Given the description of an element on the screen output the (x, y) to click on. 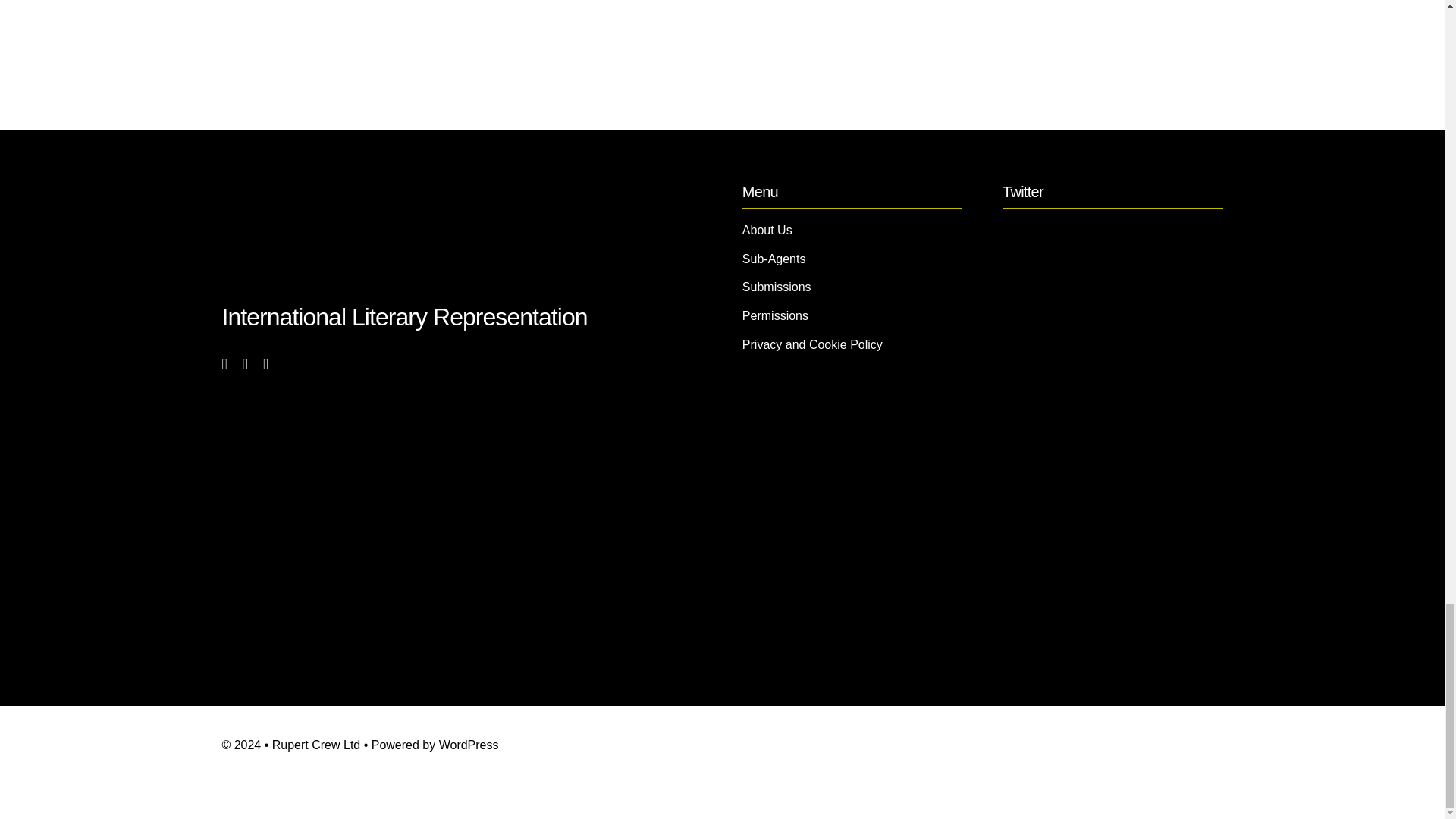
Privacy and Cookie Policy (852, 344)
About Us (852, 230)
Sub-Agents (852, 259)
Permissions (852, 315)
Submissions (852, 287)
